Given the description of an element on the screen output the (x, y) to click on. 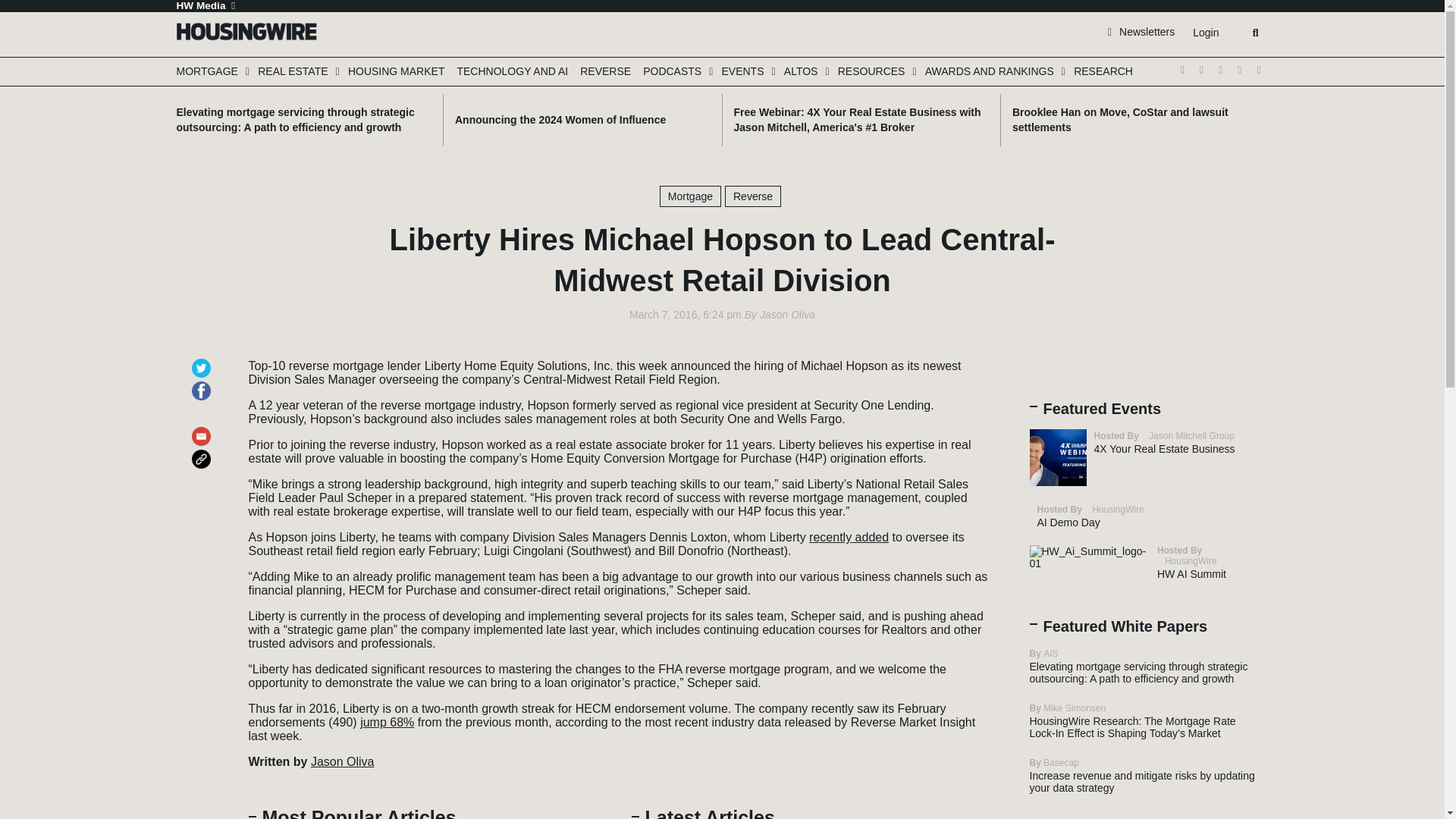
Click to share on LinkedIn (203, 406)
Click to copy link (203, 452)
Click to share on Twitter (203, 360)
Newsletters (1141, 31)
open search bar (1255, 32)
Posts by Jason Oliva (787, 314)
Click to share on Facebook (203, 383)
Login (1205, 32)
Click to email a link to a friend (203, 429)
